Given the description of an element on the screen output the (x, y) to click on. 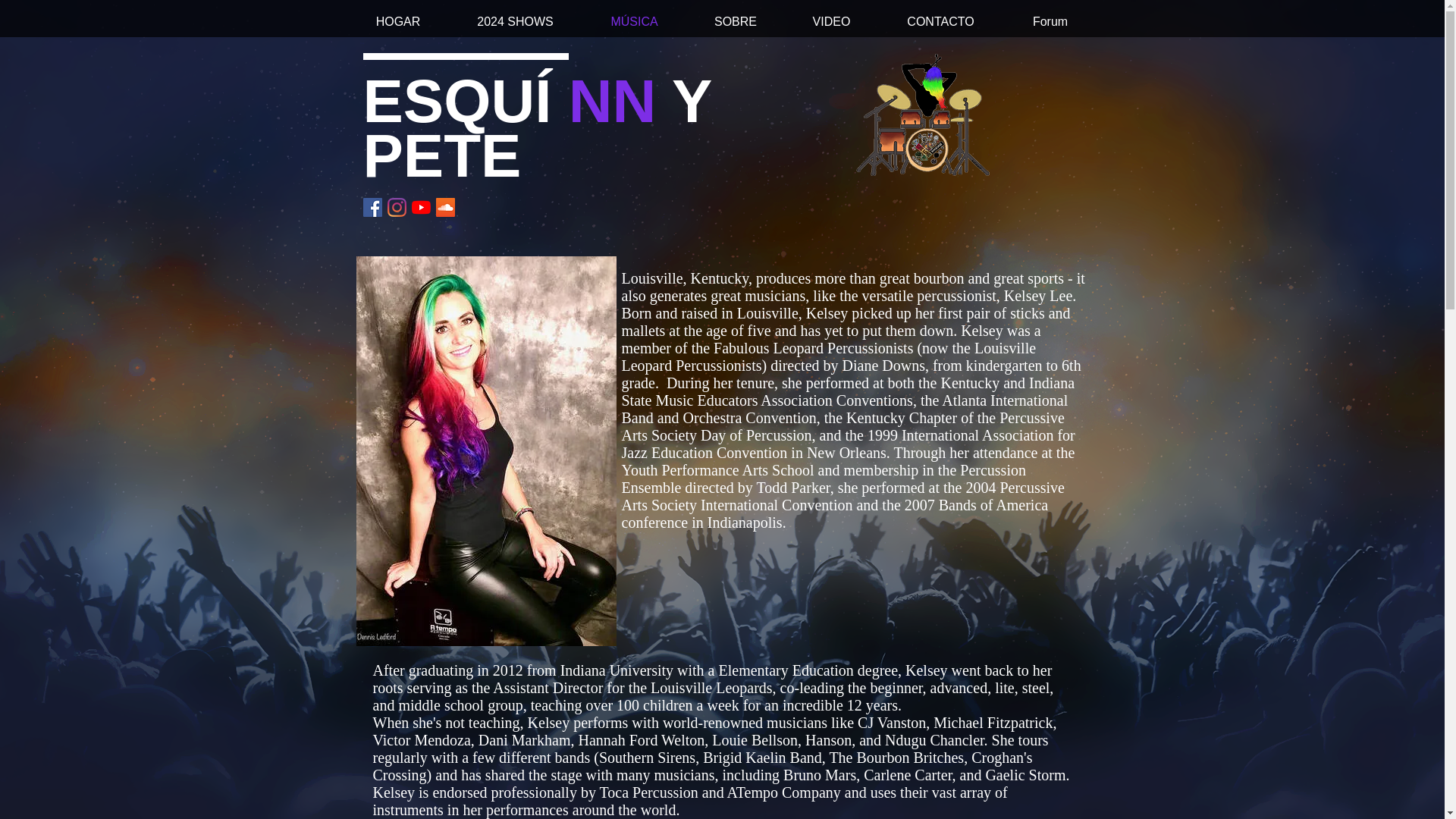
HOGAR (397, 21)
SOBRE (735, 21)
2024 SHOWS (515, 21)
Forum (1050, 21)
PETE (441, 155)
CONTACTO (940, 21)
VIDEO (830, 21)
